Given the description of an element on the screen output the (x, y) to click on. 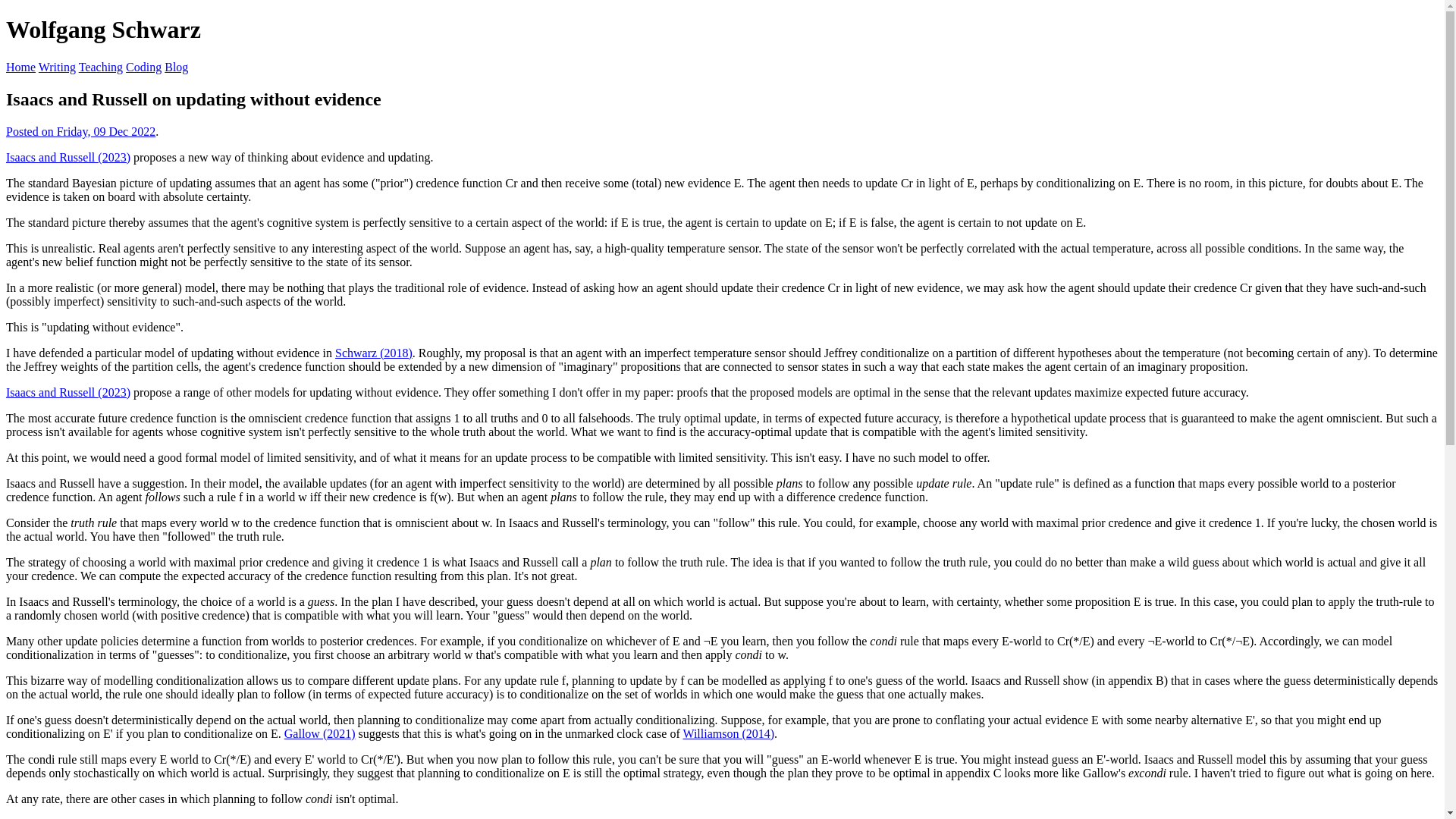
Posted on Friday, 09 Dec 2022 (80, 131)
Writing (57, 66)
Teaching (100, 66)
Home (19, 66)
Coding (143, 66)
Blog (175, 66)
